Given the description of an element on the screen output the (x, y) to click on. 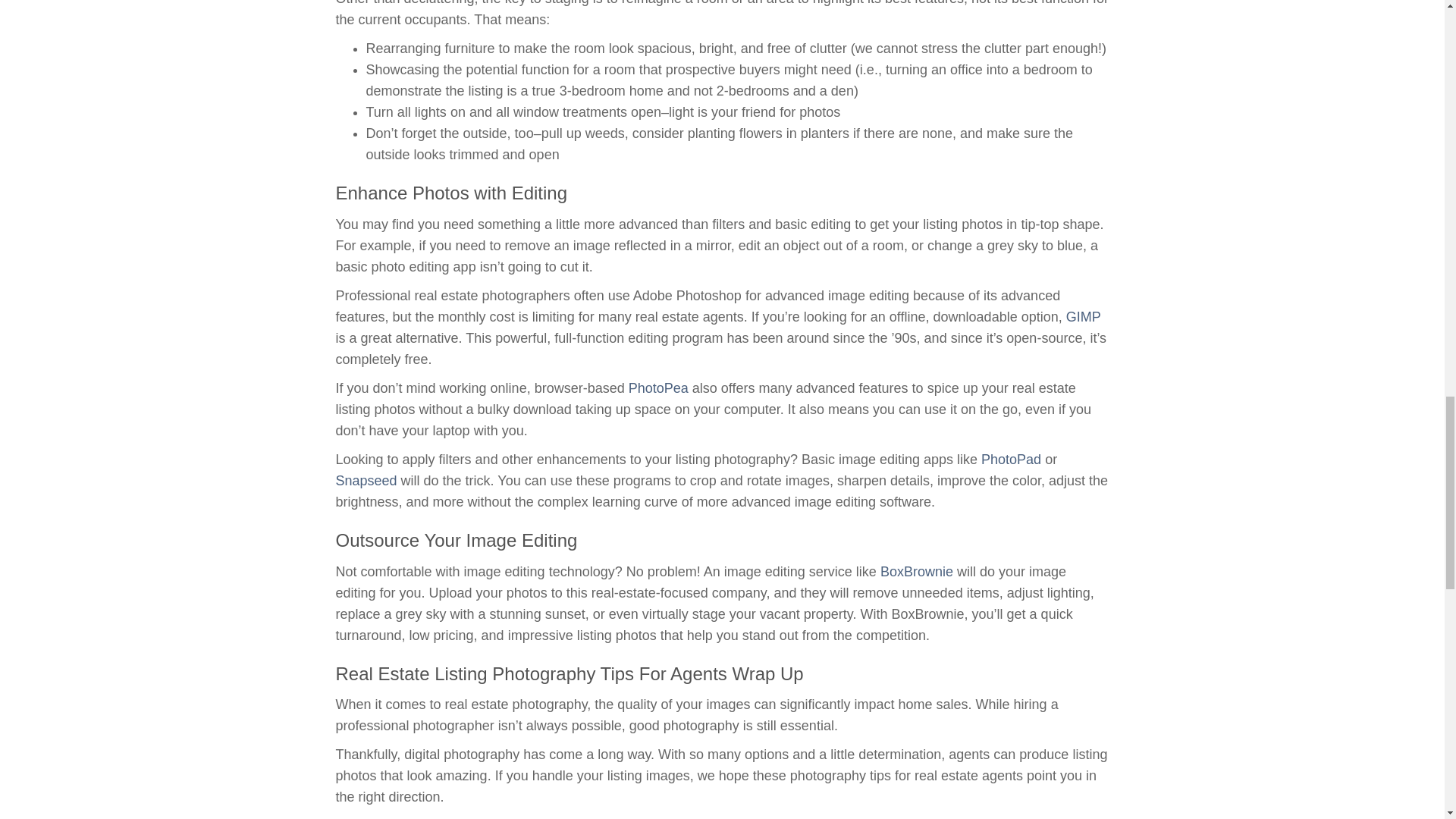
otoPad (1019, 459)
Ph (989, 459)
Snapseed (365, 480)
GIMP (1082, 316)
PhotoPea (658, 387)
